Given the description of an element on the screen output the (x, y) to click on. 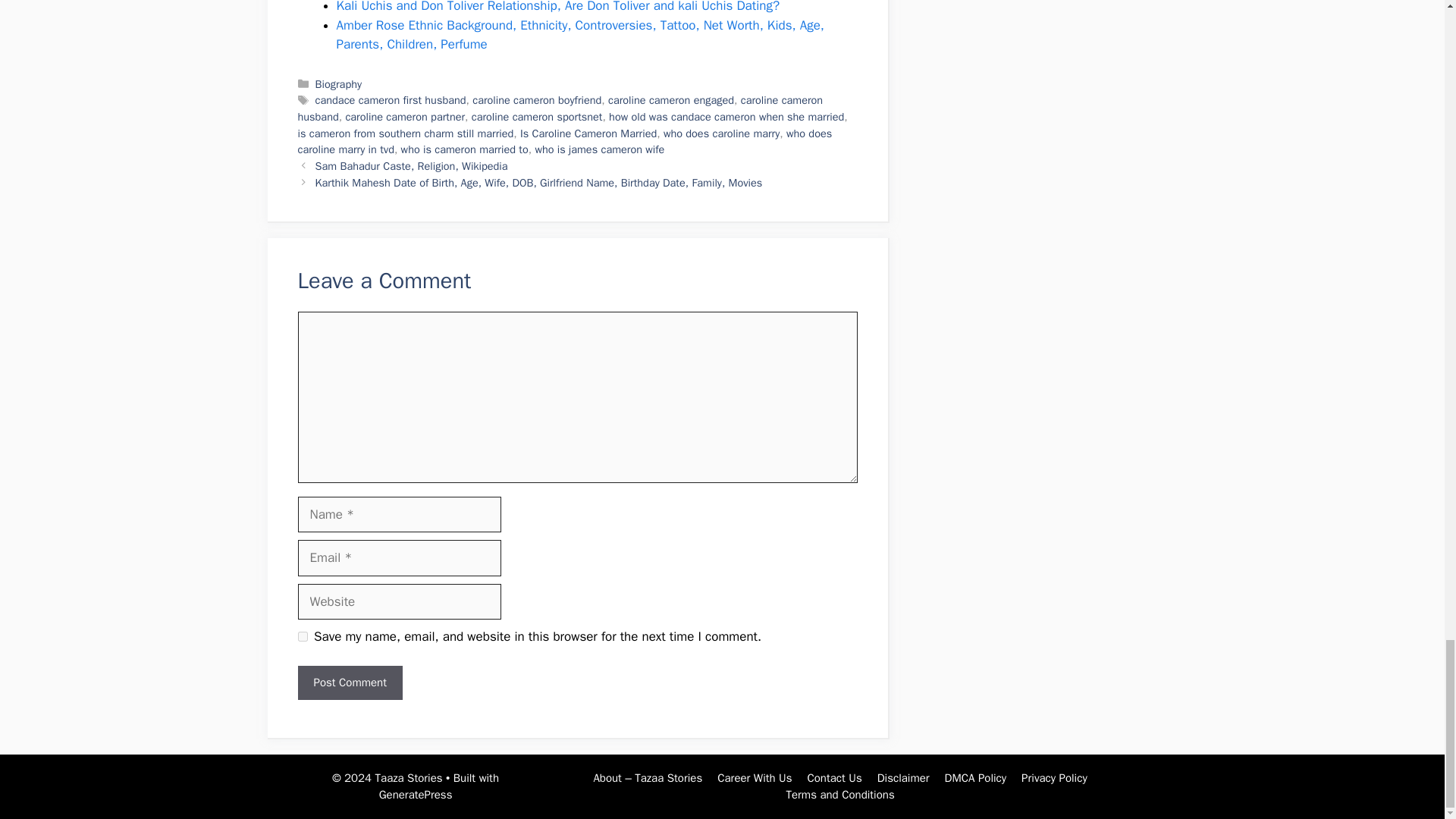
caroline cameron husband (559, 108)
how old was candace cameron when she married (726, 116)
Post Comment (349, 682)
Is Caroline Cameron Married (587, 133)
is cameron from southern charm still married (405, 133)
candace cameron first husband (390, 100)
caroline cameron engaged (670, 100)
caroline cameron partner (404, 116)
Biography (338, 83)
caroline cameron sportsnet (536, 116)
yes (302, 636)
caroline cameron boyfriend (536, 100)
